Given the description of an element on the screen output the (x, y) to click on. 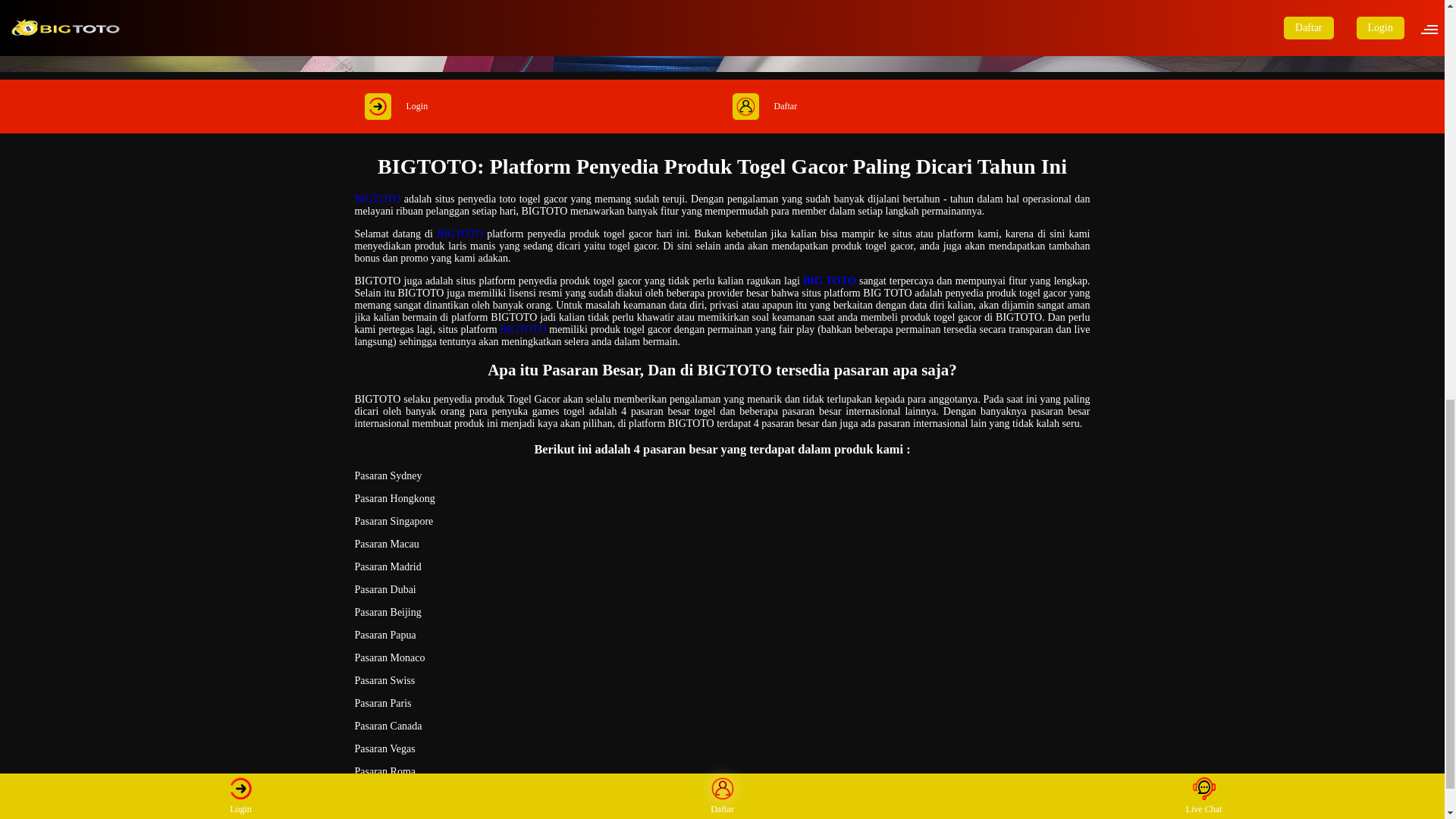
BIGTOTO (523, 328)
BIG TOTO (829, 280)
BIGTOTO (378, 198)
BIGTOTO (459, 233)
Daftar (905, 106)
Login (538, 106)
